Given the description of an element on the screen output the (x, y) to click on. 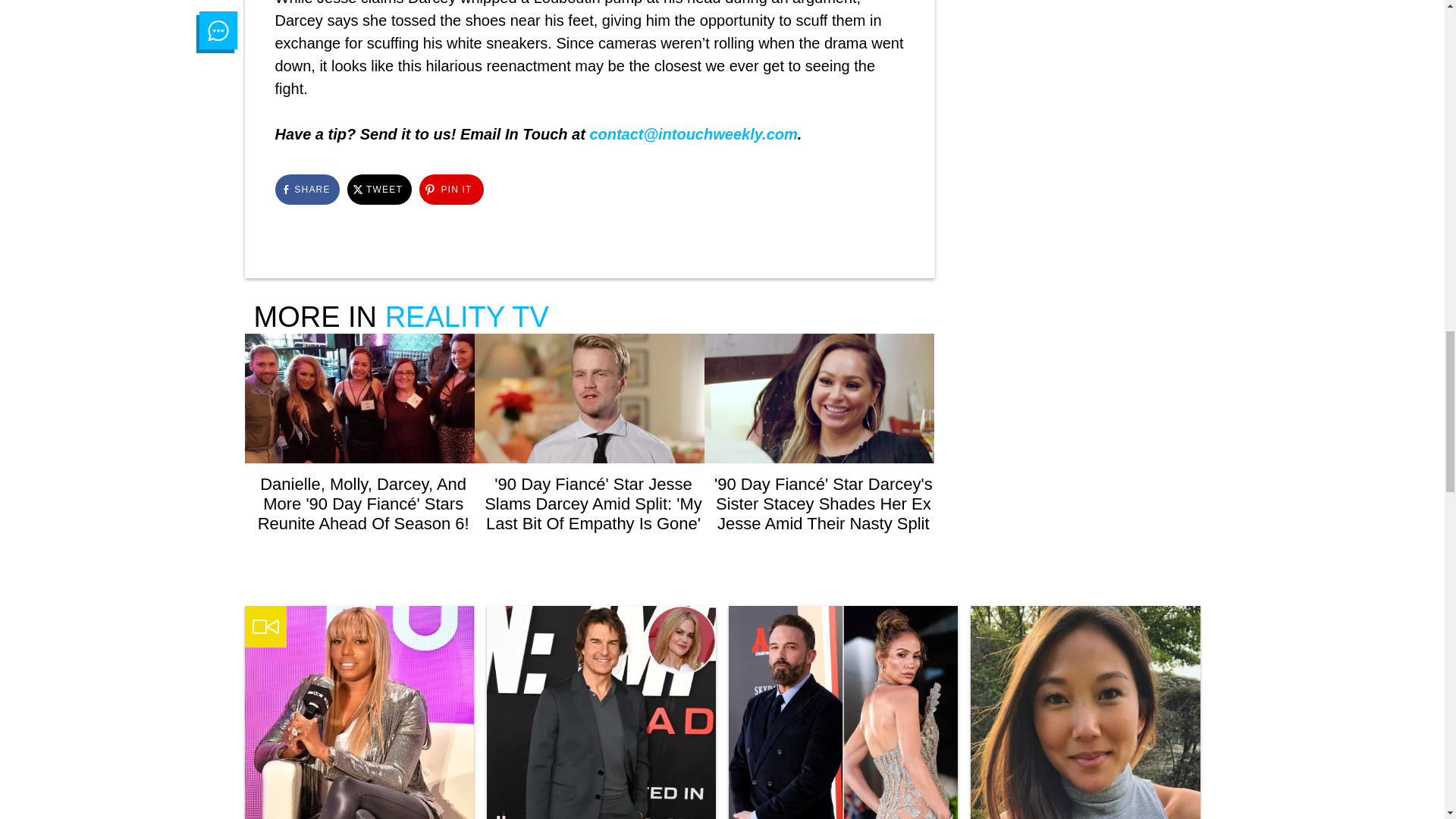
Click to share on Pinterest (451, 189)
Click to share on Twitter (379, 189)
Click to share on Facebook (307, 189)
